Given the description of an element on the screen output the (x, y) to click on. 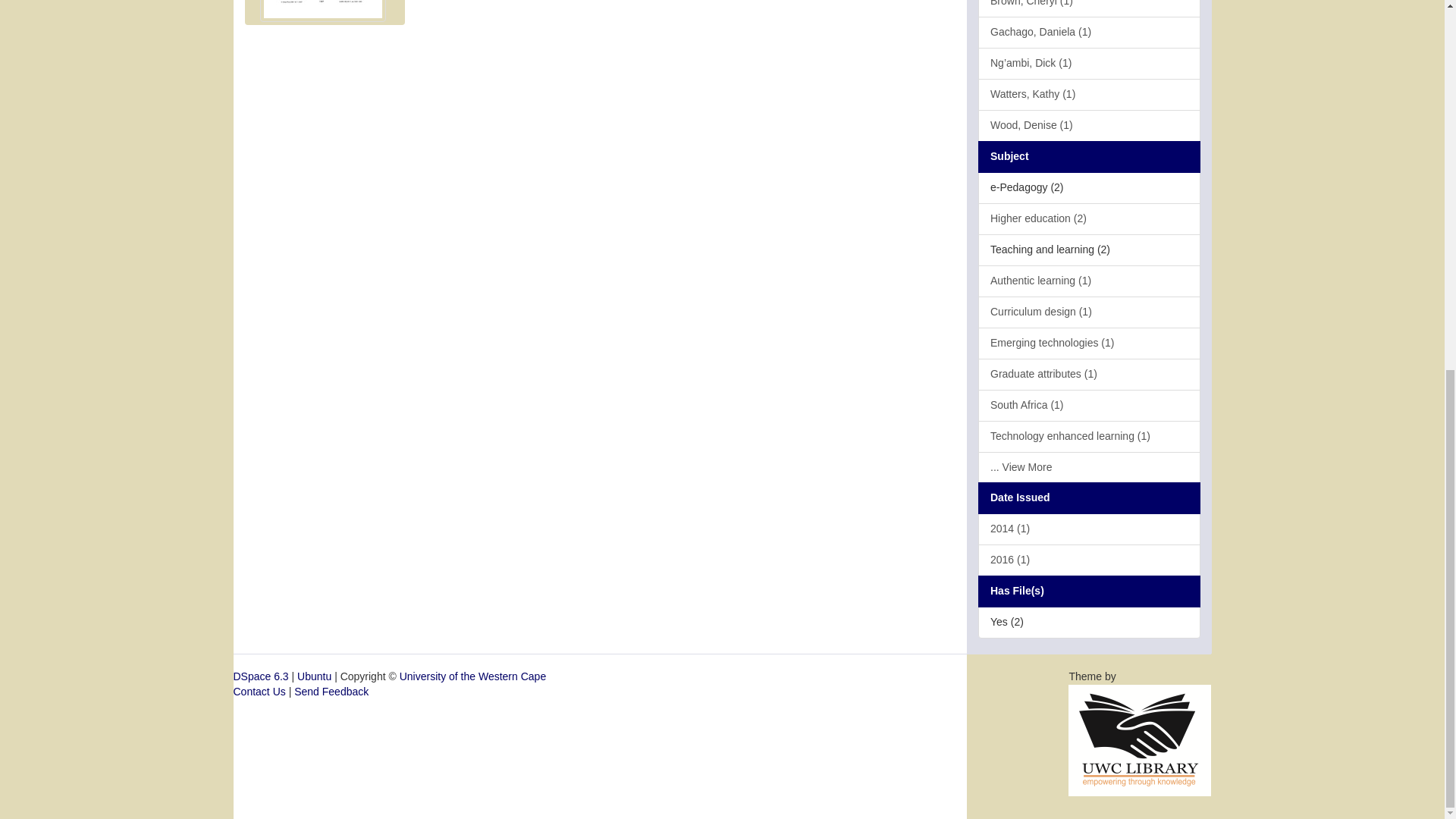
Atmire NV (1139, 739)
